Given the description of an element on the screen output the (x, y) to click on. 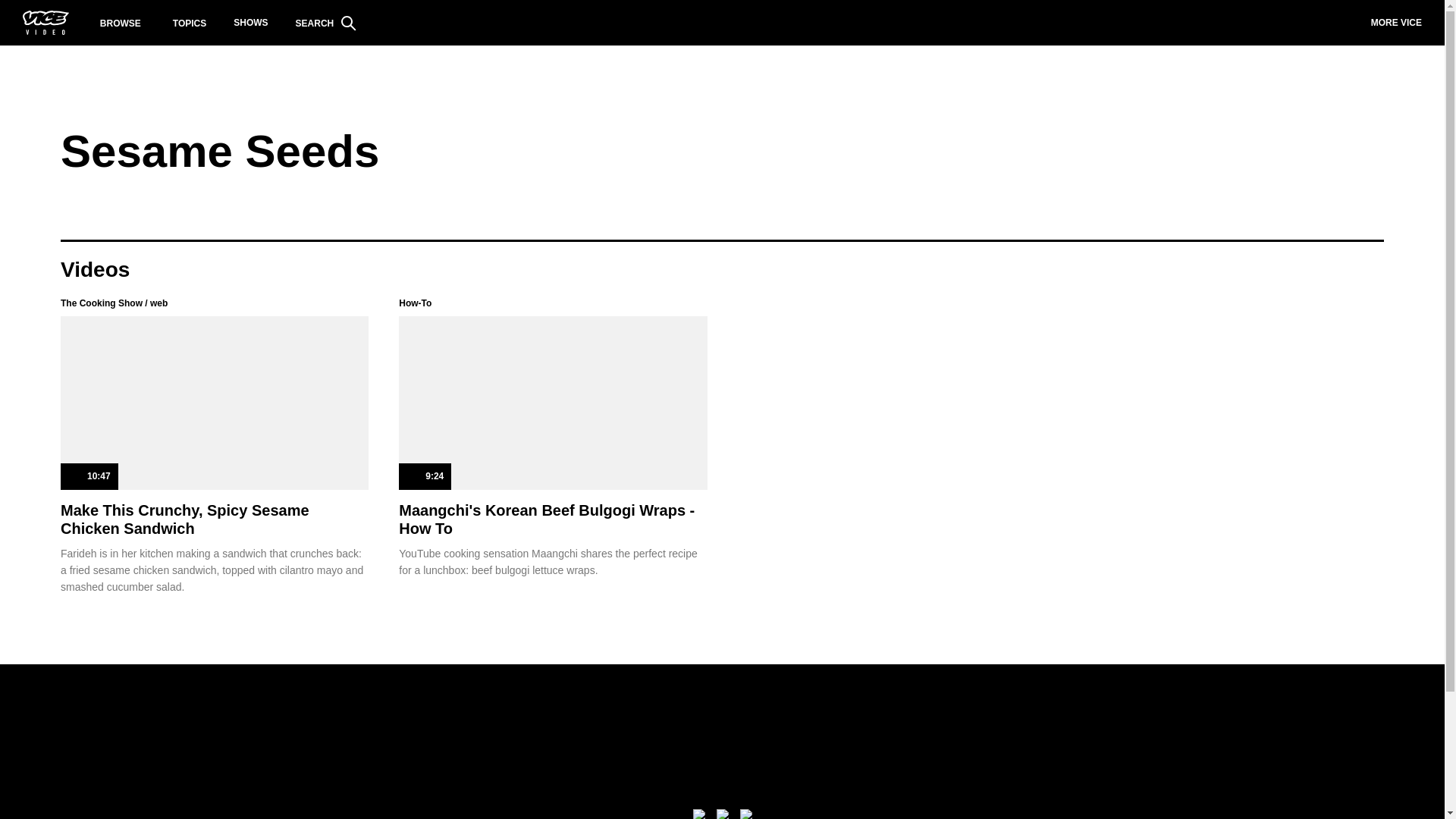
TOPICS (189, 23)
SHOWS (250, 22)
MORE VICE (1395, 22)
BROWSE (120, 23)
SEARCH (325, 23)
